Given the description of an element on the screen output the (x, y) to click on. 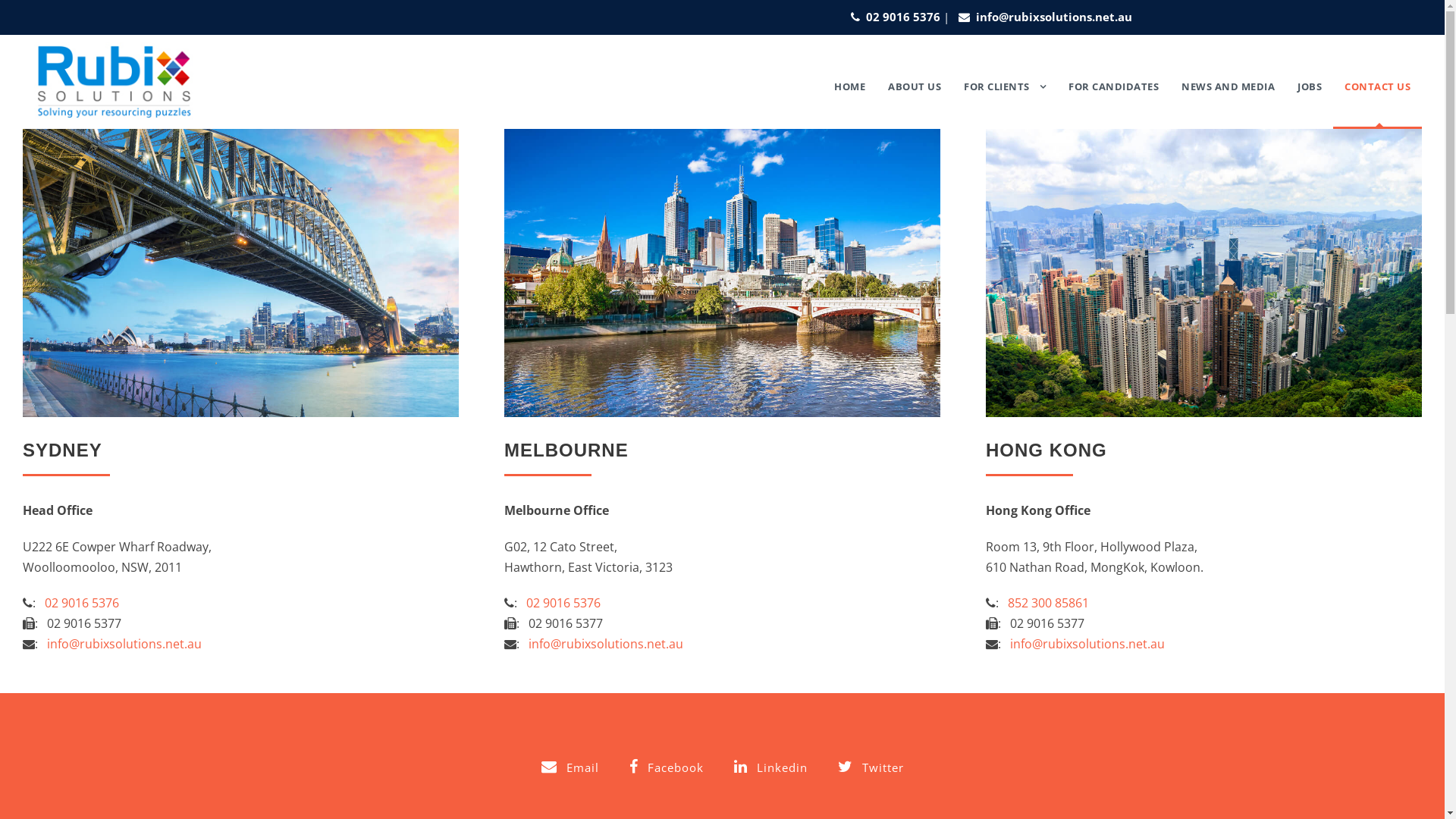
02 9016 5376 Element type: text (903, 16)
info@rubixsolutions.net.au Element type: text (1087, 643)
sydney Element type: hover (240, 272)
FOR CANDIDATES Element type: text (1113, 102)
  info@rubixsolutions.net.au Element type: text (1050, 16)
melbourne Element type: hover (722, 272)
HOME Element type: text (849, 102)
honKong Element type: hover (1203, 272)
ABOUT US Element type: text (914, 102)
Facebook Element type: text (666, 766)
Rubix Solutions Element type: hover (113, 81)
Linkedin Element type: text (770, 766)
JOBS Element type: text (1309, 102)
852 300 85861 Element type: text (1047, 602)
FOR CLIENTS Element type: text (1004, 102)
02 9016 5376 Element type: text (563, 602)
info@rubixsolutions.net.au Element type: text (605, 643)
info@rubixsolutions.net.au Element type: text (124, 643)
NEWS AND MEDIA Element type: text (1227, 102)
02 9016 5376 Element type: text (81, 602)
CONTACT US Element type: text (1377, 102)
Twitter Element type: text (870, 766)
Email Element type: text (570, 766)
